Given the description of an element on the screen output the (x, y) to click on. 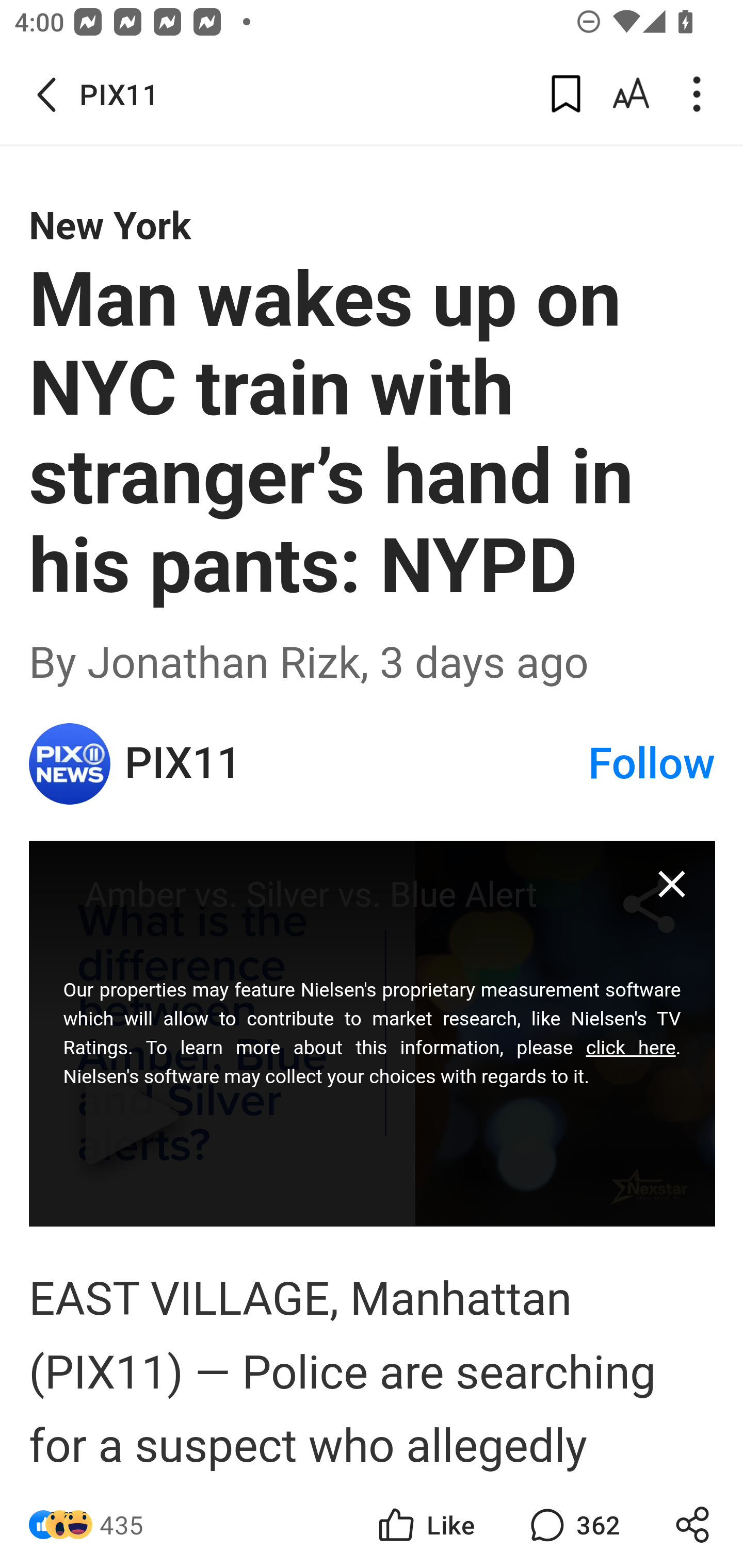
PIX11 (70, 763)
PIX11 (355, 763)
Follow (651, 763)
Amber vs. Silver vs. Blue Alert (372, 1033)
click here (630, 1046)
435 (121, 1524)
Like (425, 1524)
362 (572, 1524)
